Given the description of an element on the screen output the (x, y) to click on. 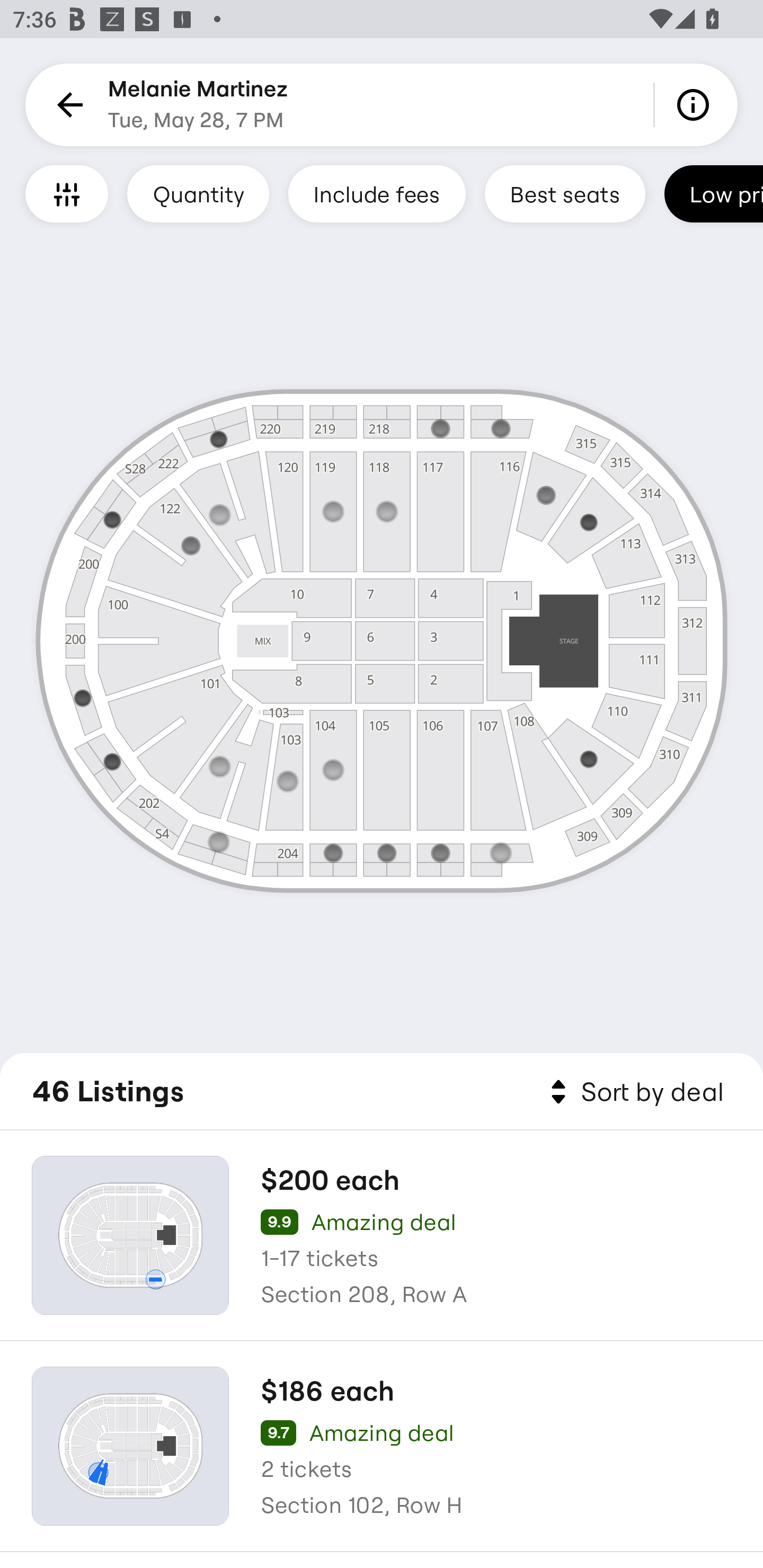
Back (66, 104)
Melanie Martinez Tue, May 28, 7 PM (198, 104)
Info (695, 104)
Filters and Accessible Seating (66, 193)
Quantity (198, 193)
Include fees (376, 193)
Best seats (564, 193)
Sort by deal (633, 1091)
